Given the description of an element on the screen output the (x, y) to click on. 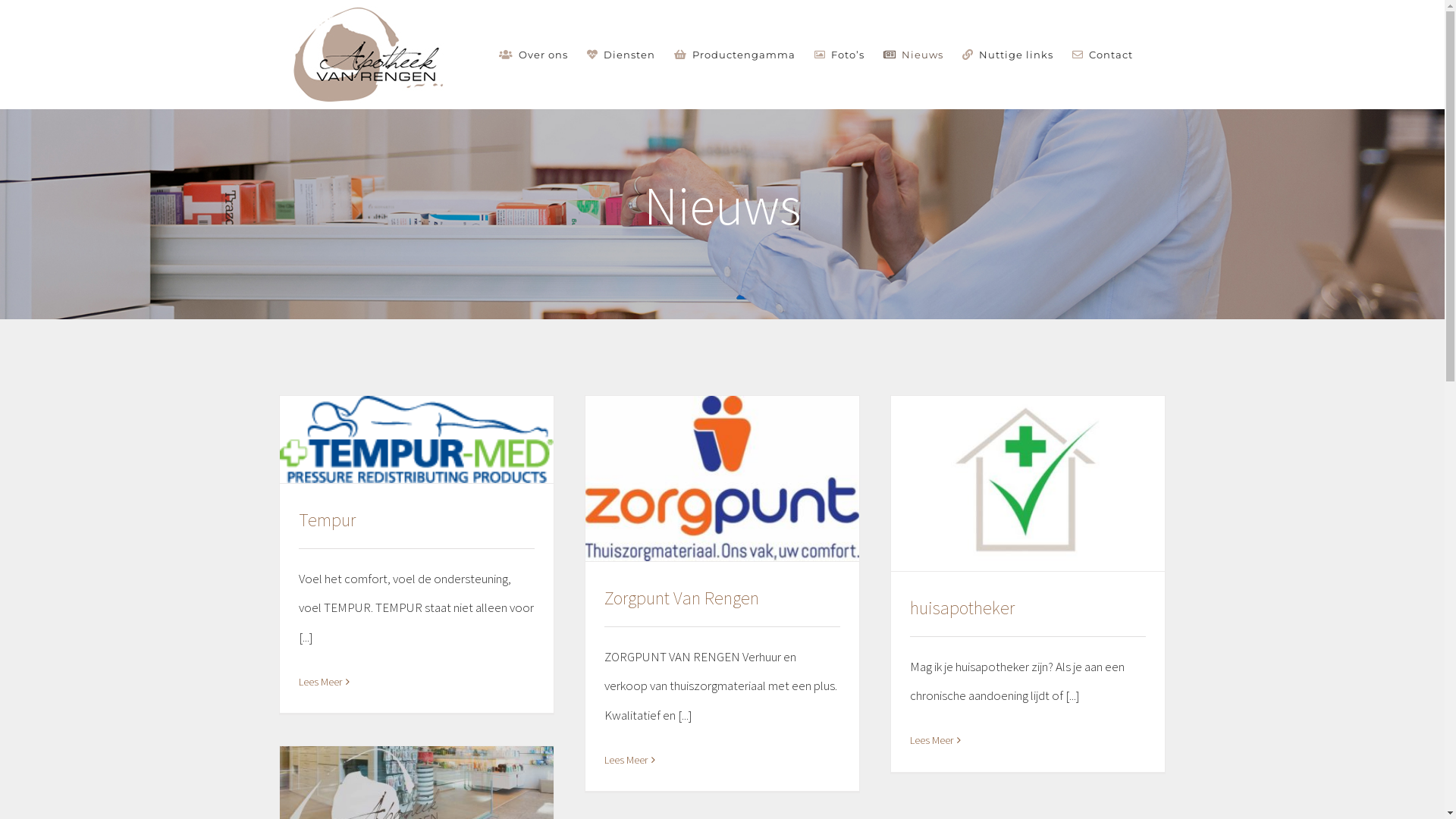
Nuttige links Element type: text (1007, 54)
Productengamma Element type: text (734, 54)
Lees Meer Element type: text (624, 760)
Nieuws Element type: text (913, 54)
Diensten Element type: text (620, 54)
Lees Meer Element type: text (931, 740)
Over ons Element type: text (532, 54)
Zorgpunt Van Rengen Element type: text (680, 597)
Tempur Element type: text (326, 519)
Contact Element type: text (1102, 54)
Lees Meer Element type: text (320, 682)
huisapotheker Element type: text (962, 607)
